Given the description of an element on the screen output the (x, y) to click on. 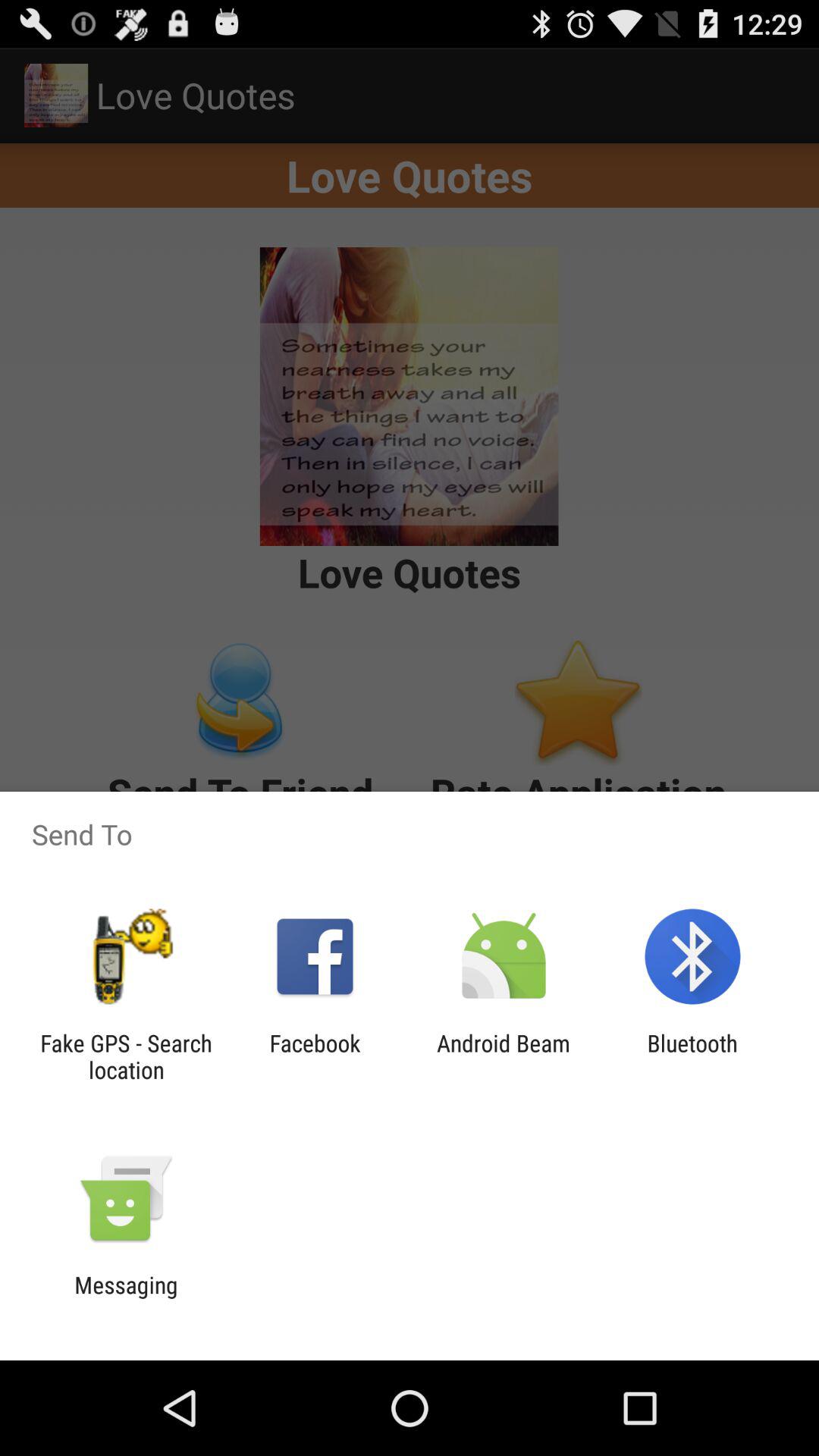
scroll to the facebook icon (314, 1056)
